Given the description of an element on the screen output the (x, y) to click on. 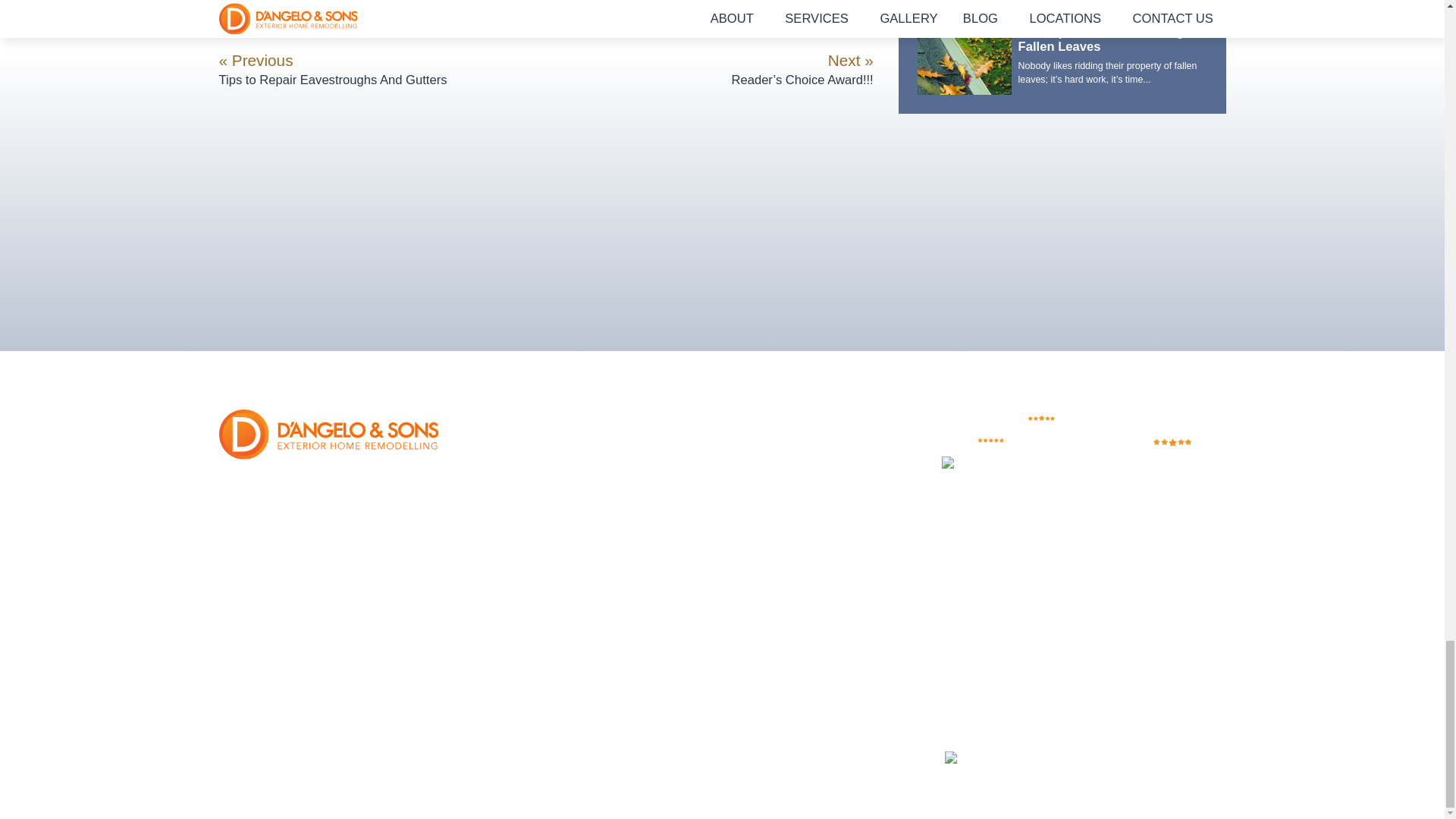
Fax (328, 543)
DNovo Group (1012, 759)
Email (328, 555)
Address (316, 478)
Phone (328, 530)
Address (307, 503)
